Given the description of an element on the screen output the (x, y) to click on. 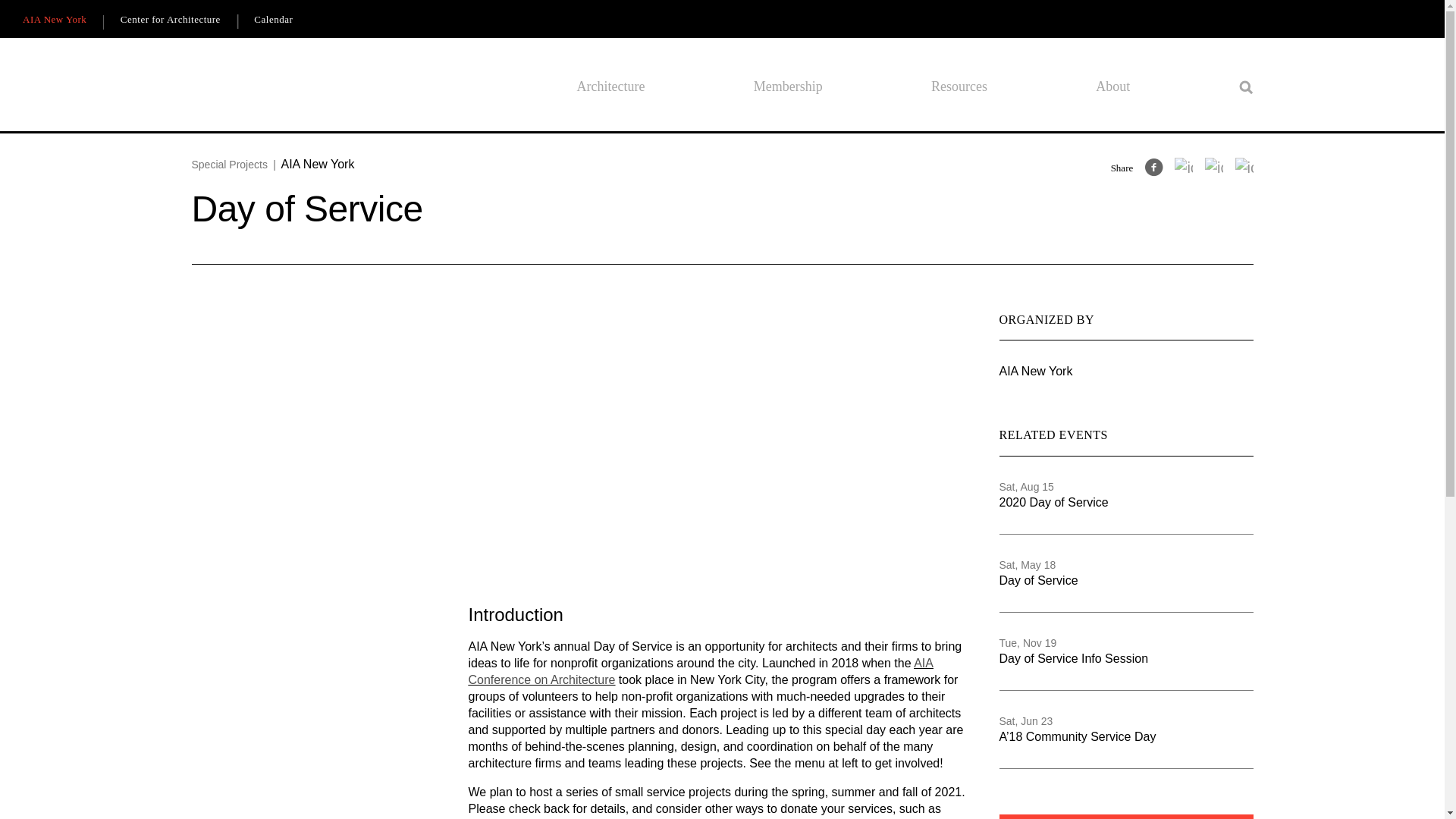
Membership (788, 85)
Resources (959, 85)
Center for Architecture (169, 19)
Calendar (272, 19)
Architecture (610, 85)
AIA New York (54, 19)
About (1112, 85)
